Given the description of an element on the screen output the (x, y) to click on. 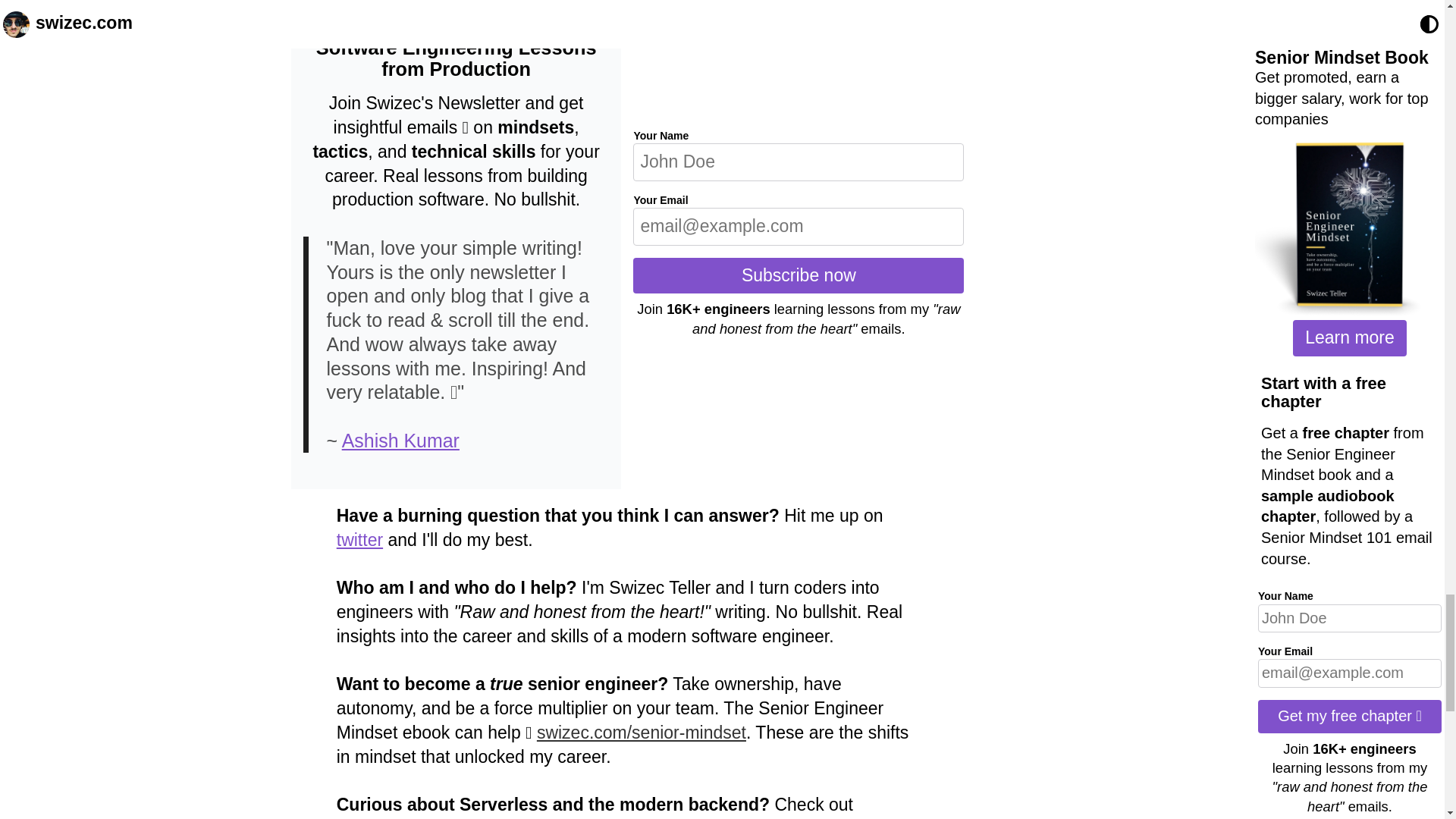
Software Engineering Lessons from Production (455, 57)
Ashish Kumar (401, 440)
Subscribe now (798, 275)
